Given the description of an element on the screen output the (x, y) to click on. 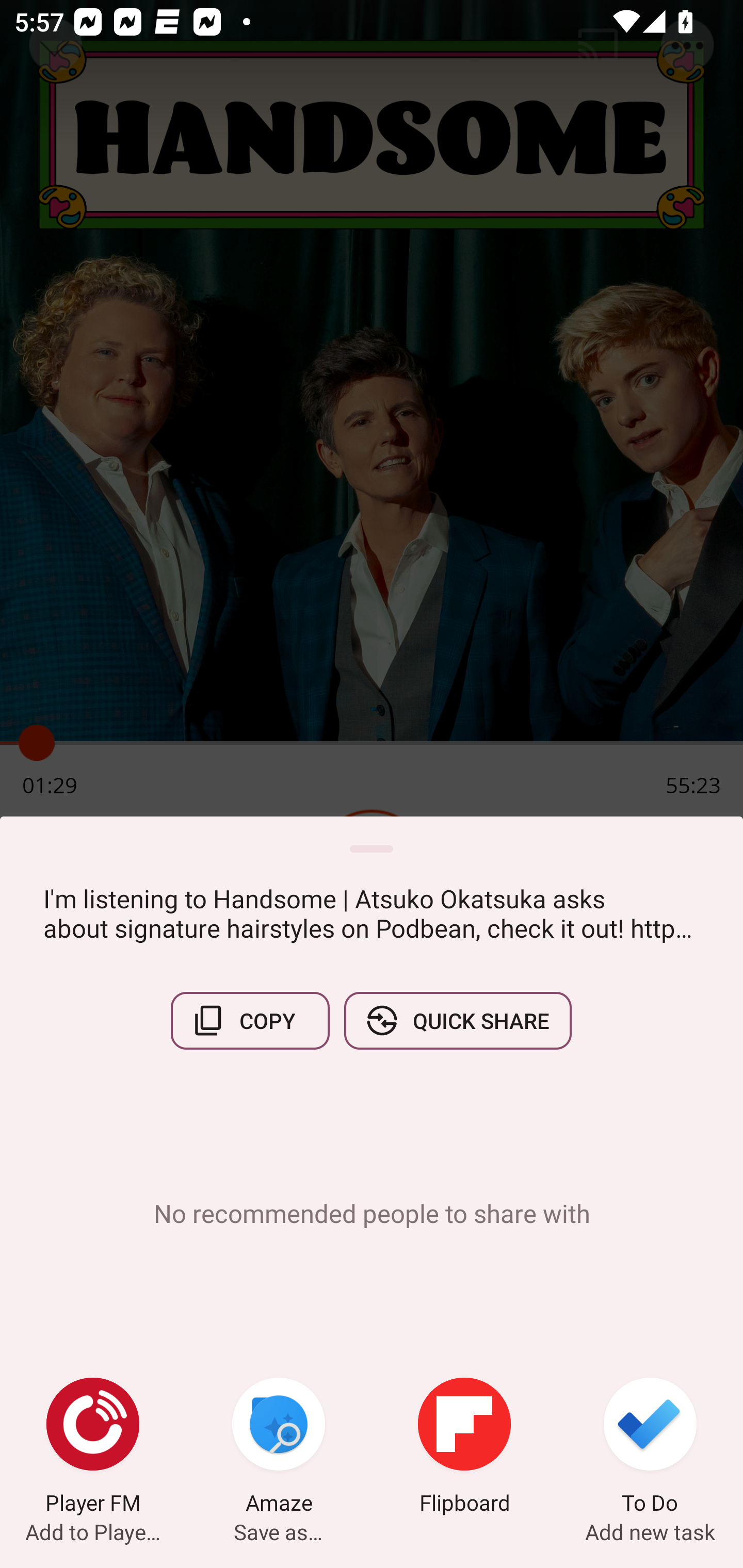
COPY (249, 1020)
QUICK SHARE (457, 1020)
Player FM Add to Player FM (92, 1448)
Amaze Save as… (278, 1448)
Flipboard (464, 1448)
To Do Add new task (650, 1448)
